Given the description of an element on the screen output the (x, y) to click on. 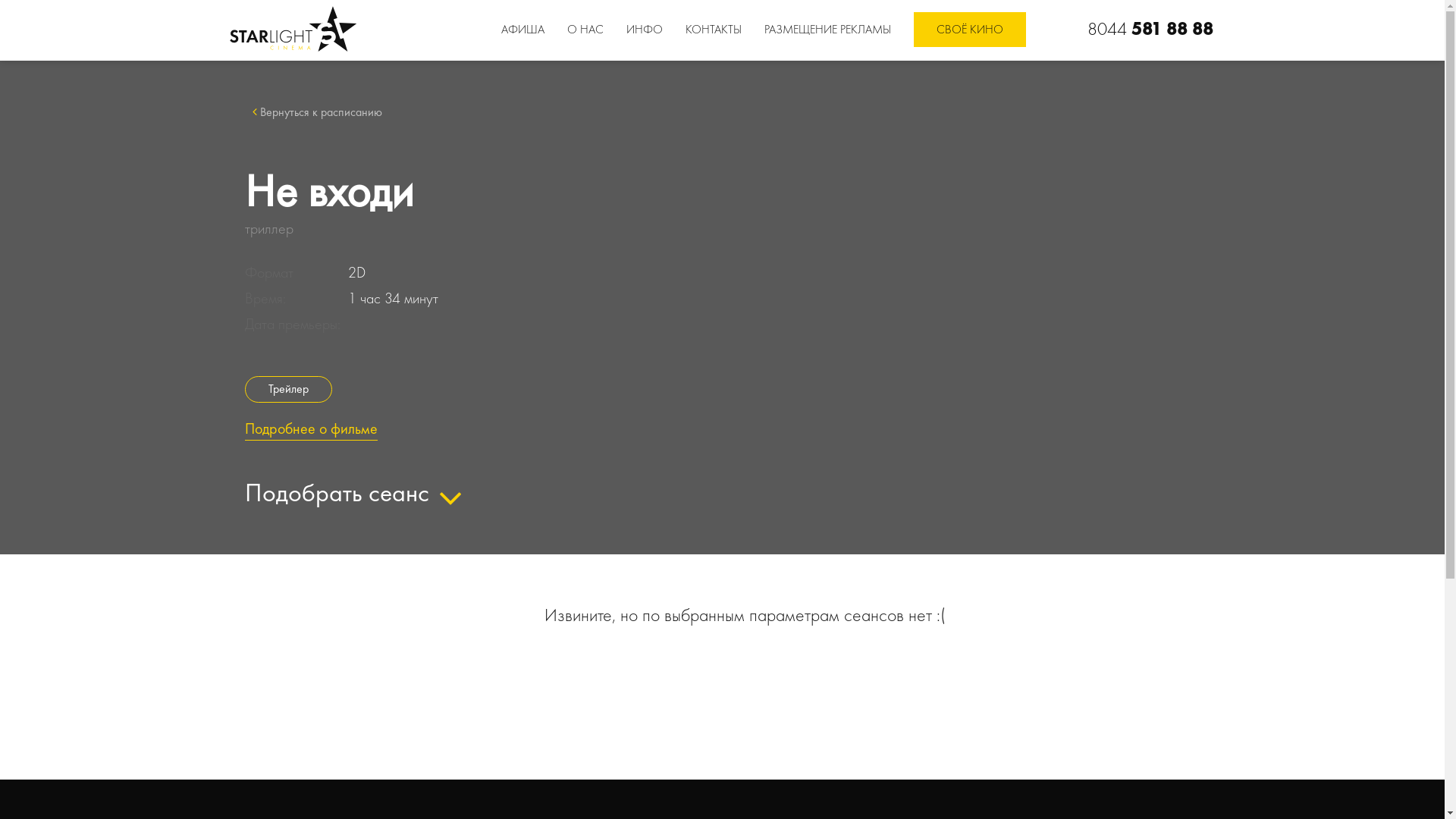
8044 581 88 88 Element type: text (1150, 28)
